Given the description of an element on the screen output the (x, y) to click on. 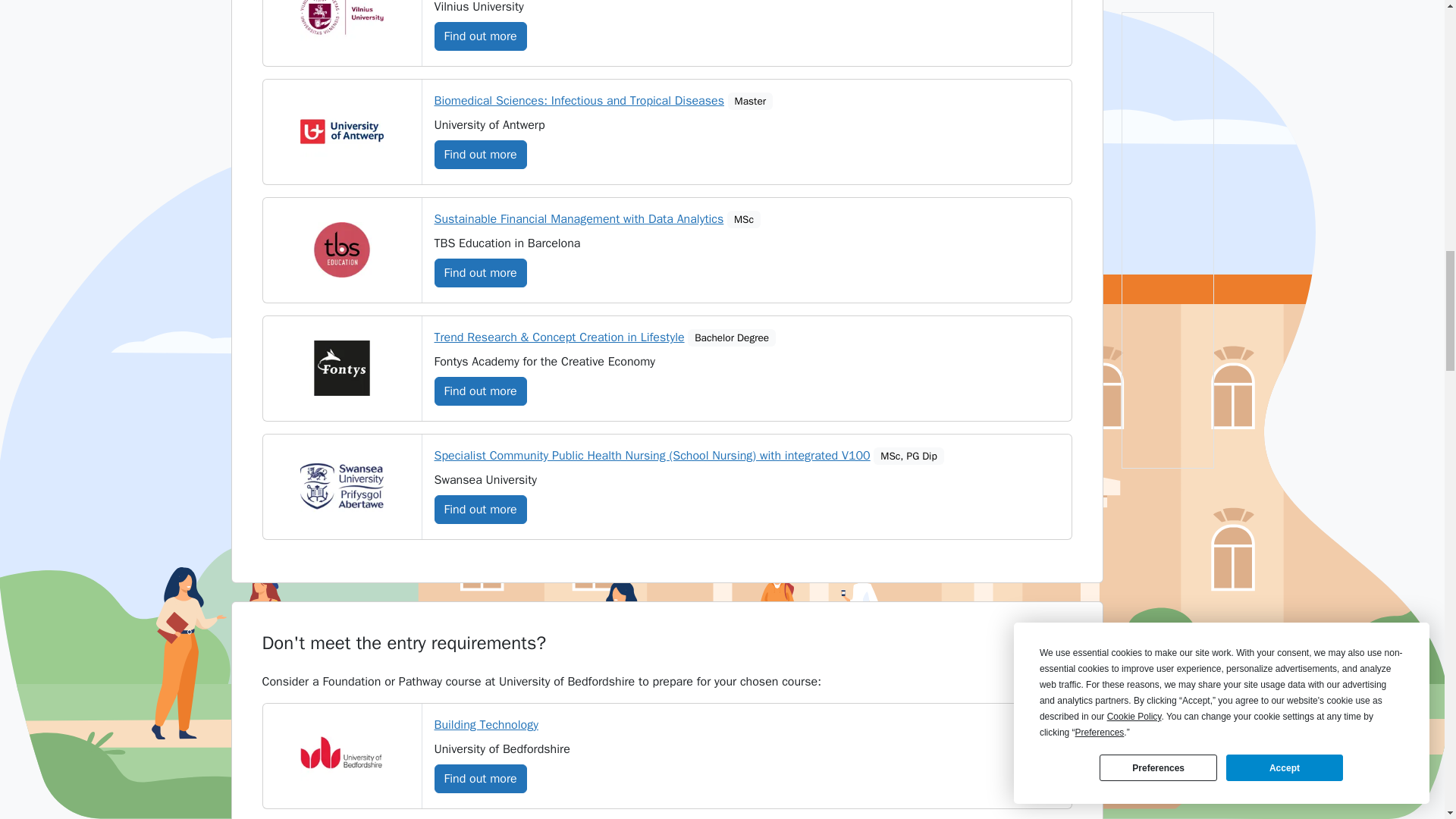
TBS Education in Barcelona (341, 249)
Vilnius University (341, 20)
Fontys Academy for the Creative Economy (341, 367)
University of Antwerp (341, 131)
Swansea University (341, 486)
University of Bedfordshire (341, 755)
